Given the description of an element on the screen output the (x, y) to click on. 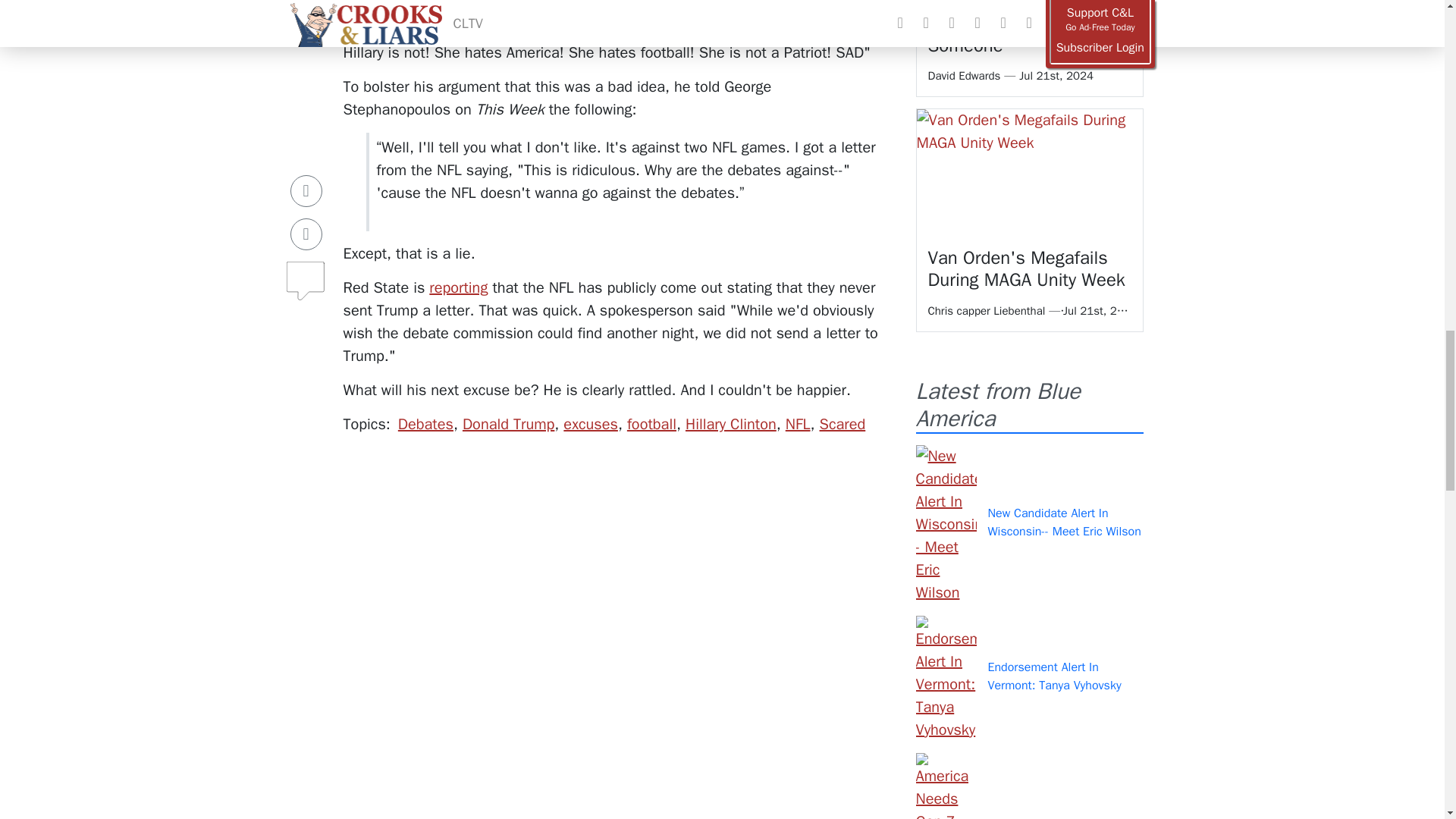
reporting (458, 287)
Scared (842, 424)
excuses (590, 424)
Hillary Clinton (730, 424)
Donald Trump (508, 424)
Debates (424, 424)
football (652, 424)
NFL (798, 424)
